Given the description of an element on the screen output the (x, y) to click on. 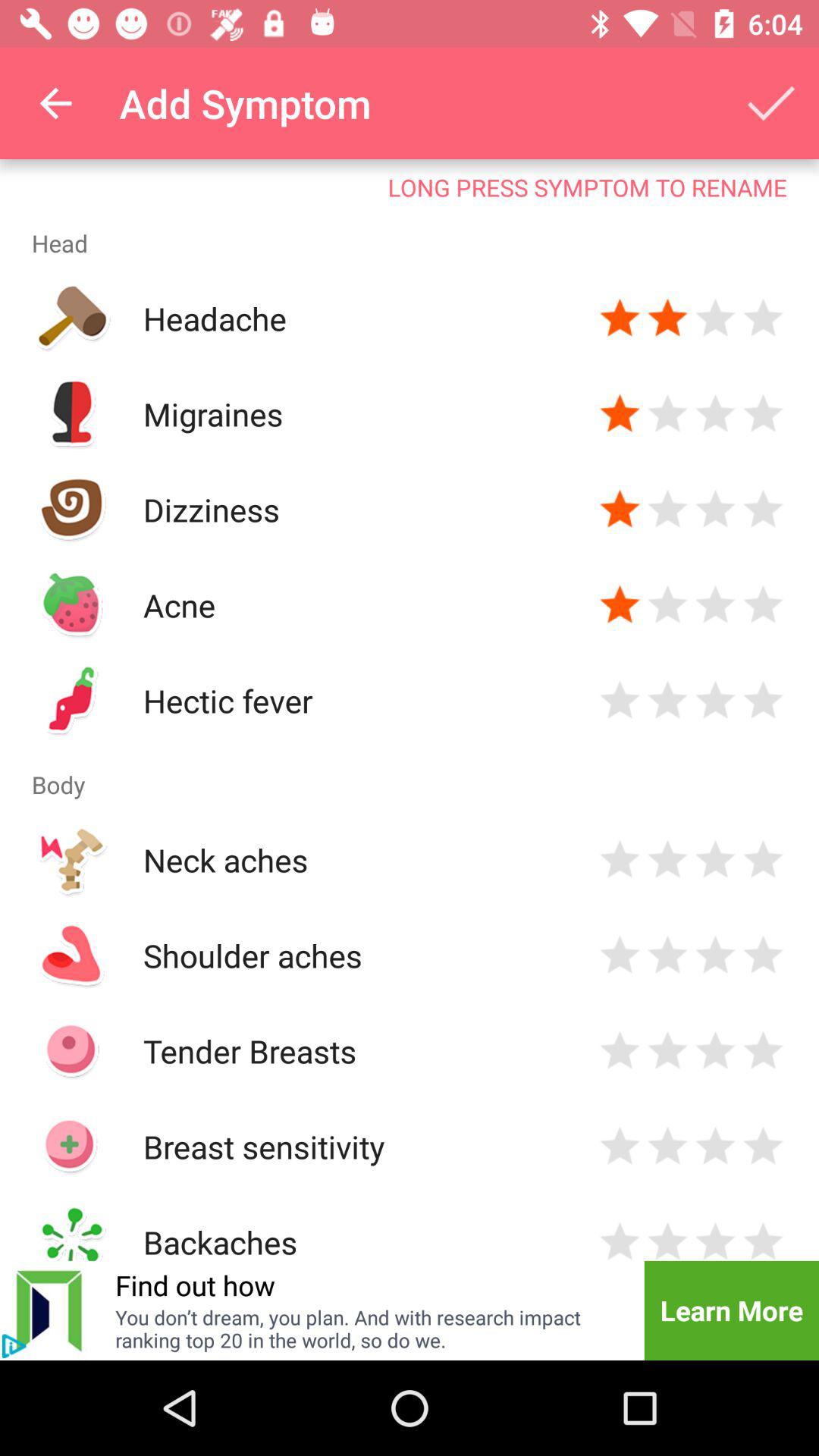
rate button (763, 1146)
